Given the description of an element on the screen output the (x, y) to click on. 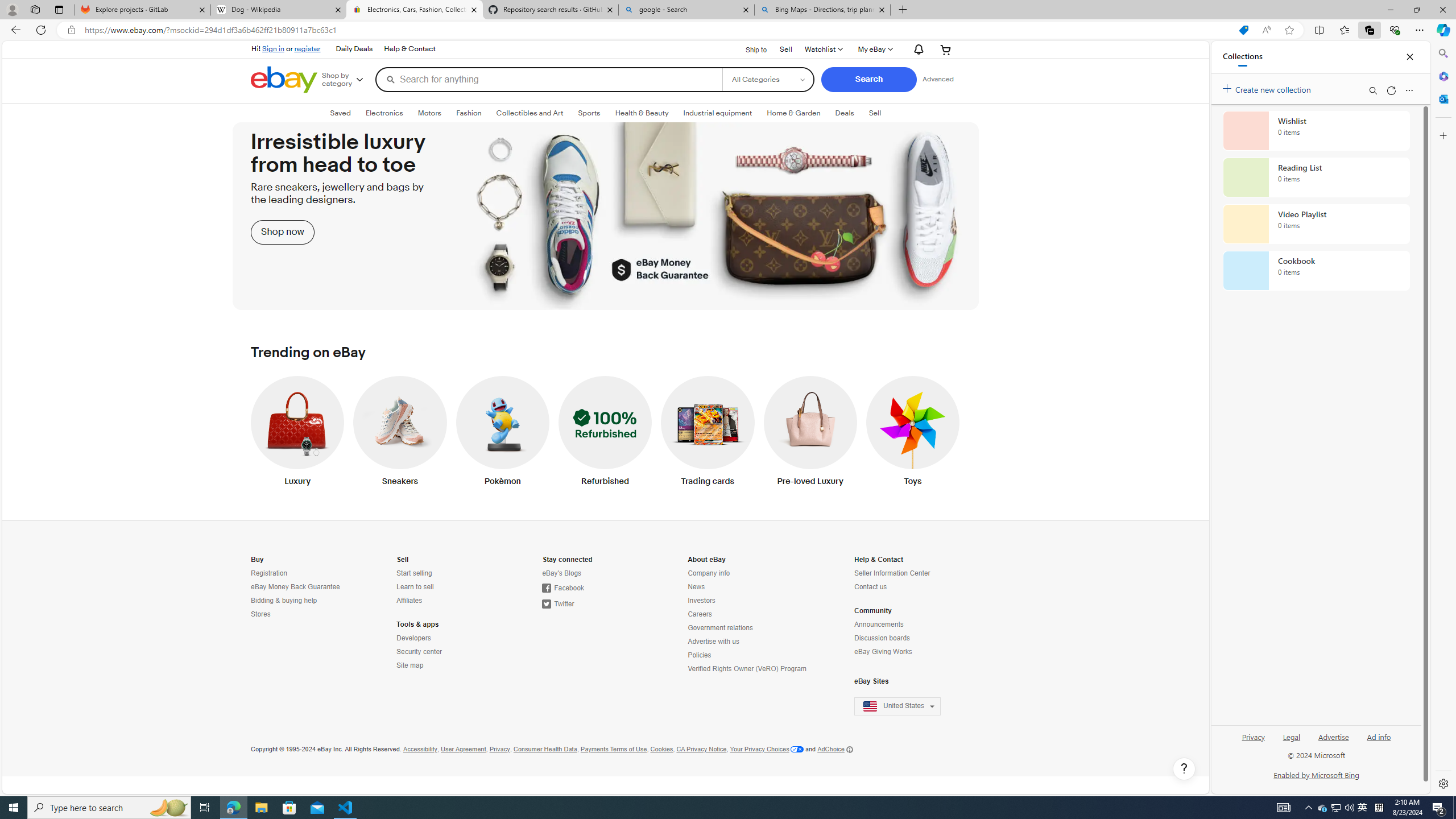
Daily Deals (353, 49)
Buy (256, 559)
Stores (300, 614)
Learn to sell (446, 587)
Registration (269, 573)
Health & Beauty (641, 112)
CA Privacy Notice (700, 749)
Video Playlist collection, 0 items (1316, 223)
Saved (339, 112)
